Given the description of an element on the screen output the (x, y) to click on. 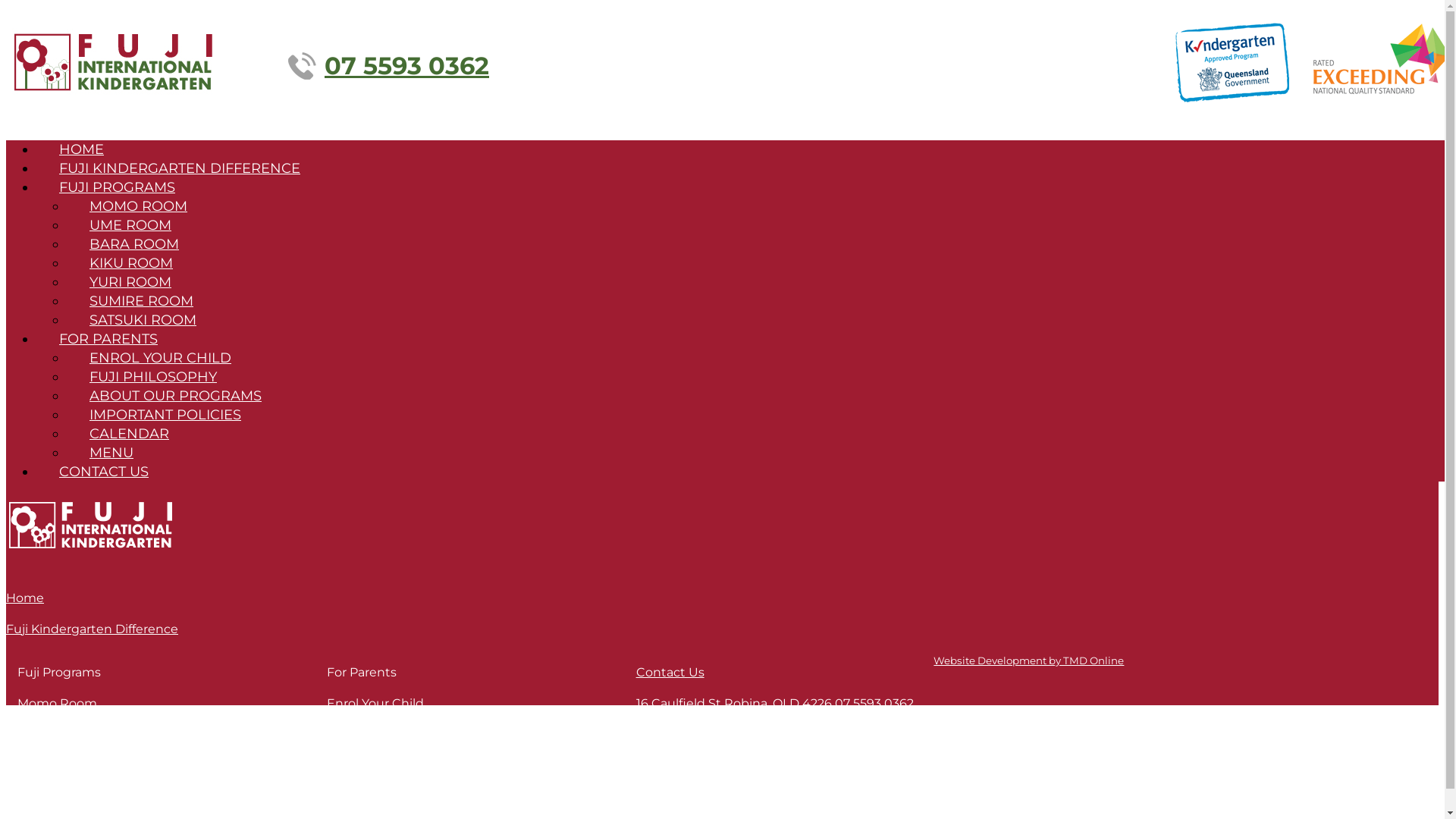
IMPORTANT POLICIES Element type: text (164, 414)
MOMO ROOM Element type: text (138, 205)
CALENDAR Element type: text (128, 433)
Enrol Your Child Element type: text (374, 703)
SATSUKI ROOM Element type: text (142, 319)
Momo Room Element type: text (57, 703)
Fuji Kindergarten Difference Element type: text (92, 628)
Website Development by TMD Online Element type: text (1028, 660)
SUMIRE ROOM Element type: text (141, 300)
Ume Room Element type: text (52, 722)
FUJI KINDERGARTEN DIFFERENCE Element type: text (179, 168)
07 5593 0362 Element type: text (387, 65)
CONTACT US Element type: text (103, 471)
UME ROOM Element type: text (130, 224)
Kiku Room Element type: text (50, 760)
MENU Element type: text (111, 452)
enrolments@fujikindergarten.com.au Element type: text (751, 722)
BARA ROOM Element type: text (133, 243)
Sumire Room Element type: text (59, 797)
Access our waitlist form Element type: text (142, 398)
Important Policies Element type: text (382, 760)
About Our Programs Element type: text (388, 741)
Calendar Element type: text (353, 778)
FUJI PROGRAMS Element type: text (116, 186)
Contact Us Element type: text (670, 672)
Fuji  Logo Element type: hover (119, 61)
Fuji Philosophy Element type: text (372, 722)
Yuri Room Element type: text (48, 778)
ABOUT OUR PROGRAMS Element type: text (175, 395)
Home Element type: text (24, 597)
FUJI PHILOSOPHY Element type: text (152, 376)
FOR PARENTS Element type: text (108, 338)
KIKU ROOM Element type: text (130, 262)
YURI ROOM Element type: text (130, 281)
HOME Element type: text (81, 149)
ENROL YOUR CHILD Element type: text (160, 357)
Menu Element type: text (344, 797)
Bara Room Element type: text (50, 741)
